Given the description of an element on the screen output the (x, y) to click on. 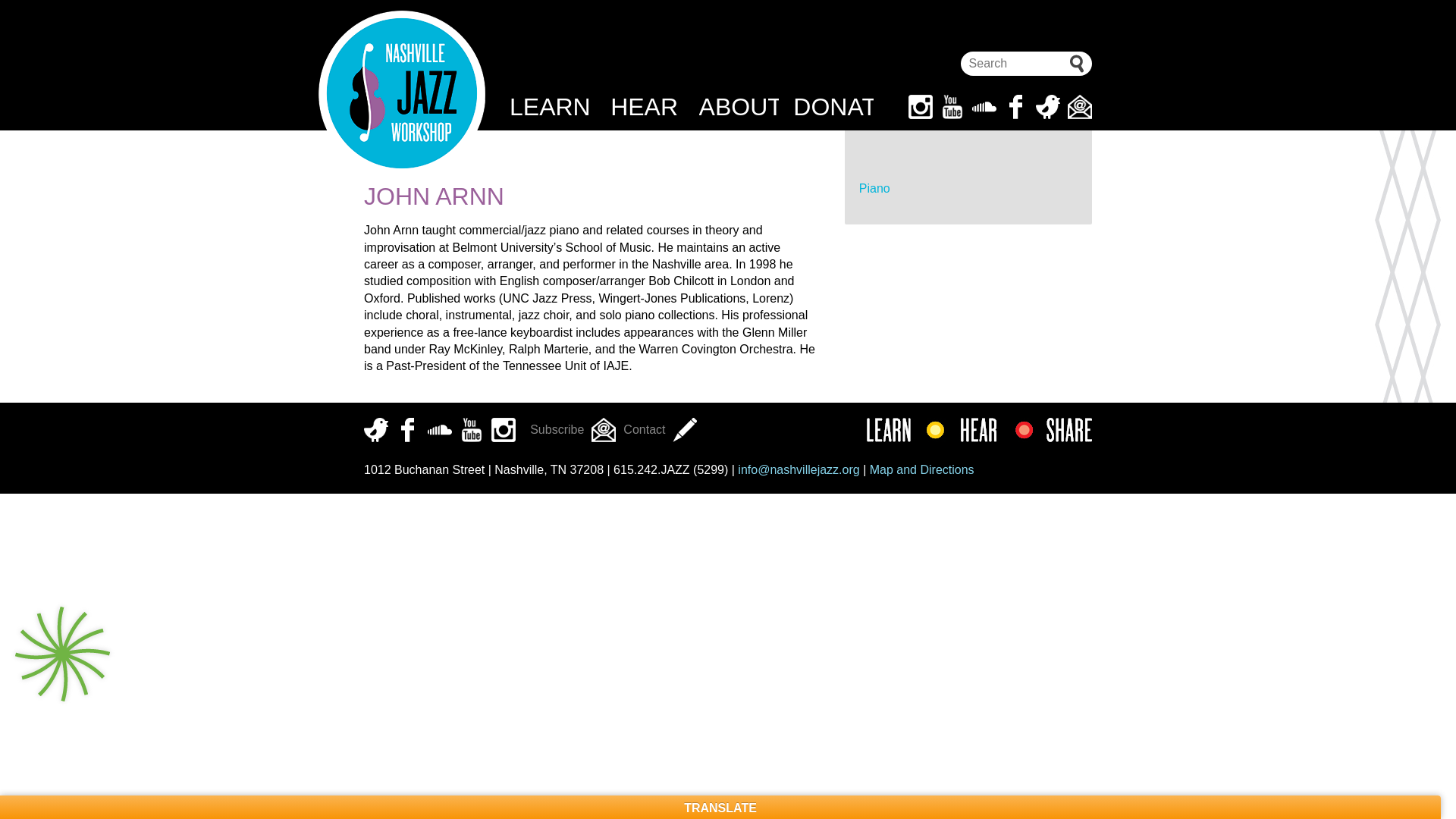
Soundcloud (439, 429)
Facebook (1015, 106)
Facebook (408, 429)
Youtube (471, 429)
LEARN (549, 106)
Youtube (951, 106)
Soundcloud (983, 106)
Instagram (920, 106)
ABOUT (738, 106)
DONATE (833, 106)
Nashville Jazz Workshop (401, 93)
Twitter (376, 429)
HEAR (644, 106)
Twitter (1047, 106)
Instagram (503, 429)
